Given the description of an element on the screen output the (x, y) to click on. 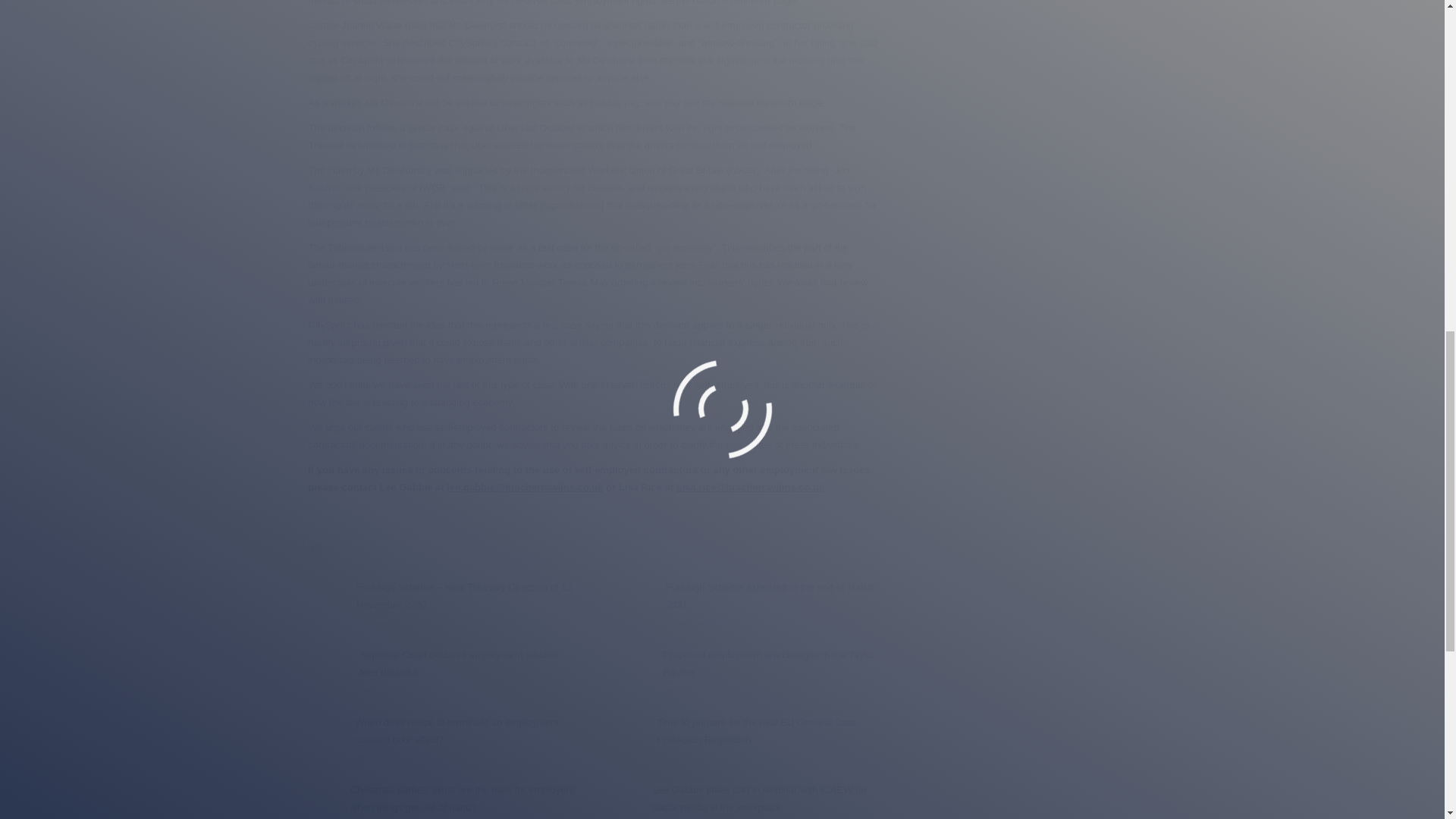
Furlough Scheme extended to the end of March 2021 (771, 595)
Supreme Court declares employment tribunal fees unlawful (467, 663)
Proposed employment law changes in the Taylor Review (771, 663)
